Given the description of an element on the screen output the (x, y) to click on. 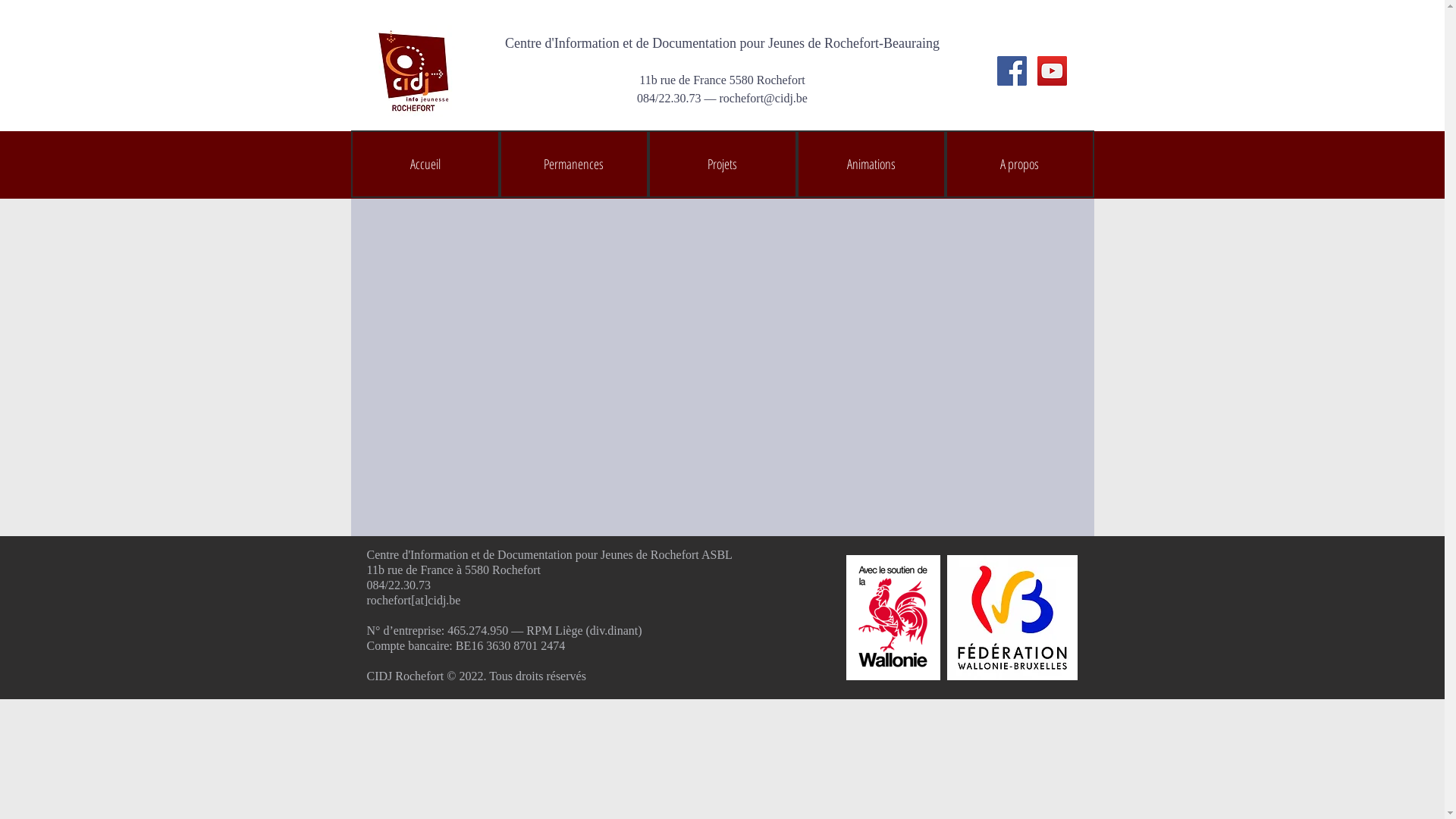
rochefort@cidj.be Element type: text (762, 97)
Accueil Element type: text (424, 163)
A propos Element type: text (1018, 163)
Permanences Element type: text (572, 163)
